Given the description of an element on the screen output the (x, y) to click on. 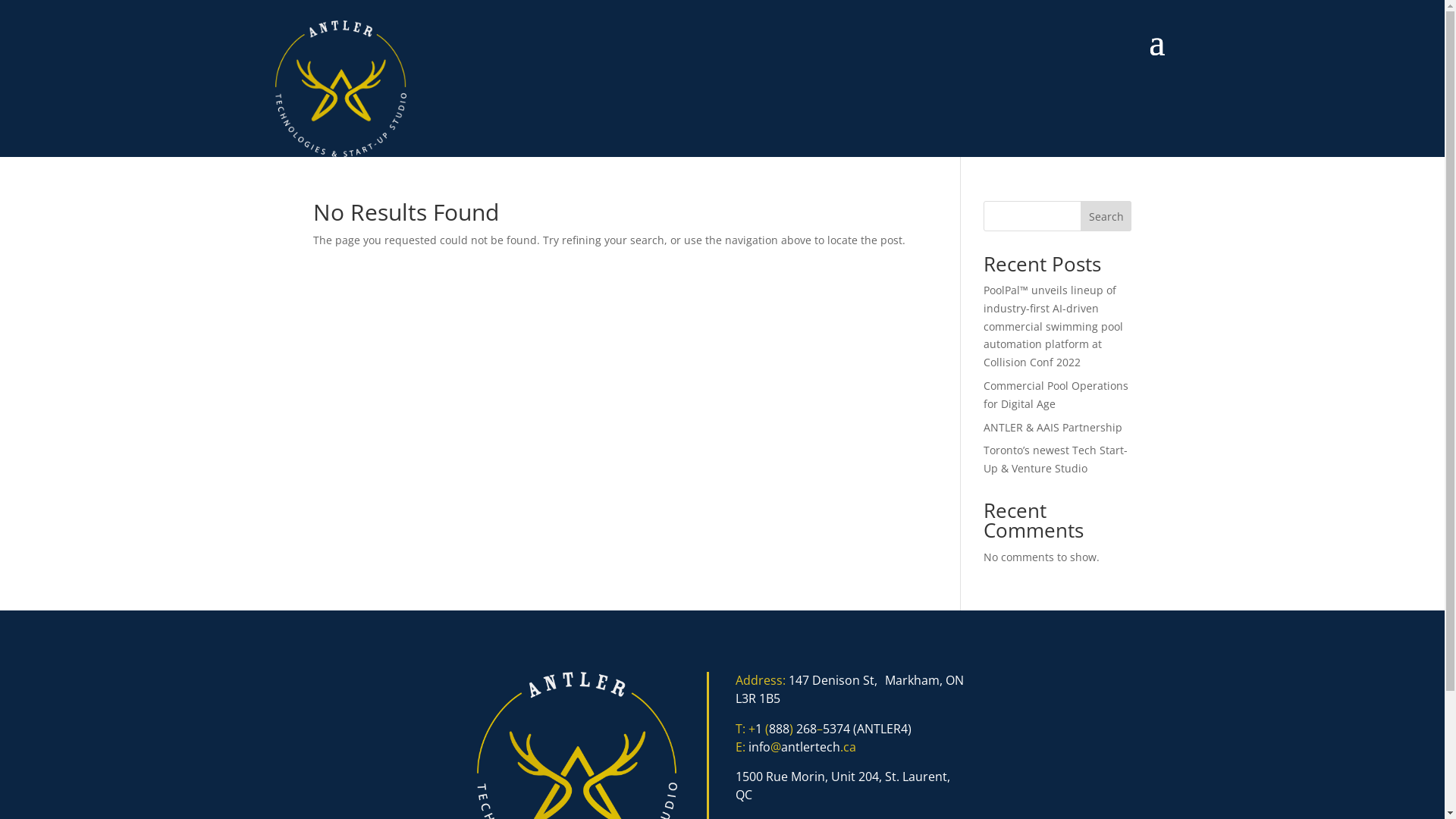
Search Element type: text (1106, 215)
Commercial Pool Operations for Digital Age Element type: text (1055, 394)
ANTLER & AAIS Partnership Element type: text (1052, 427)
Logo-antler@4x Element type: hover (340, 88)
